Given the description of an element on the screen output the (x, y) to click on. 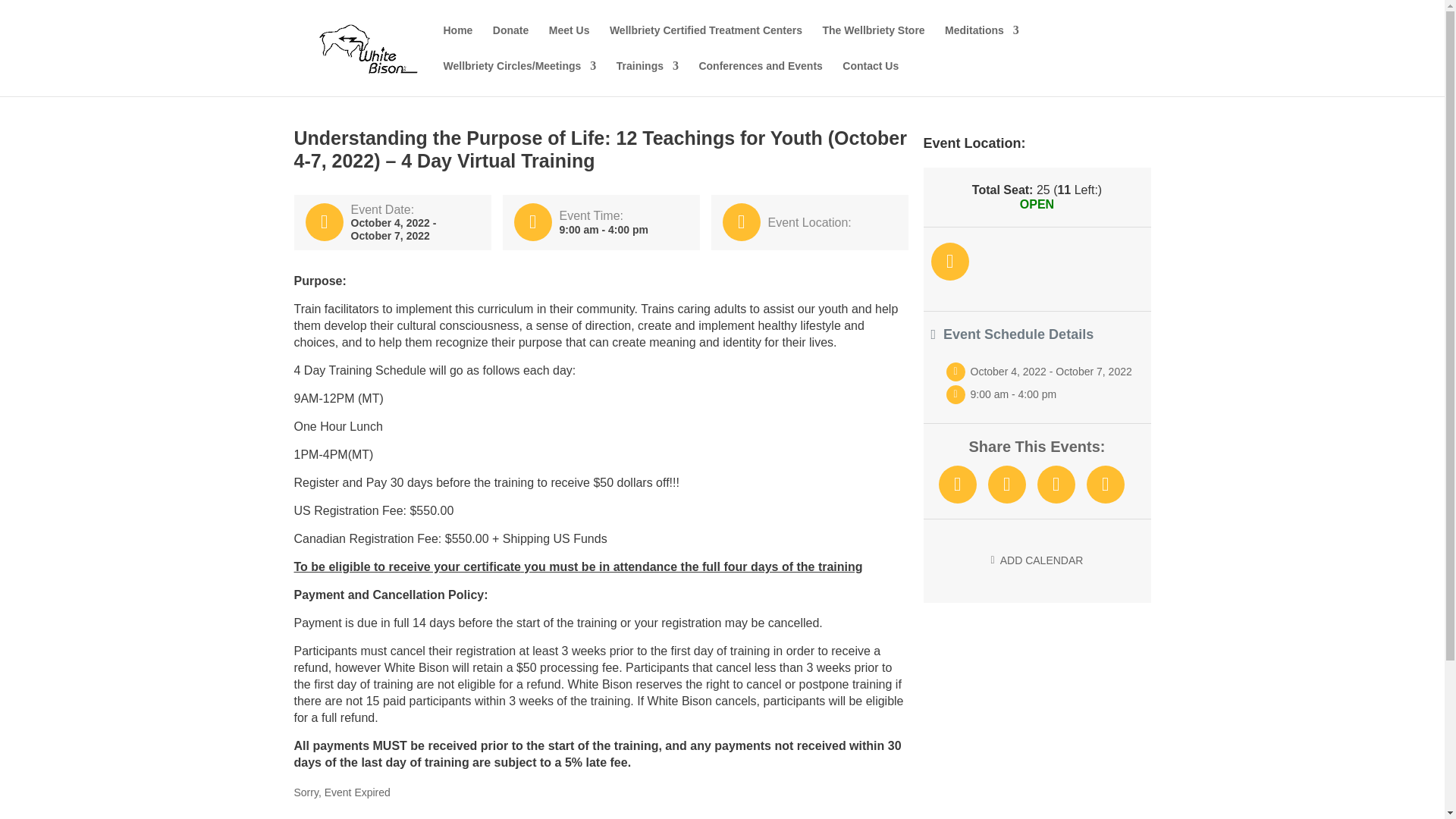
Trainings (646, 78)
Contact Us (870, 78)
Wellbriety Certified Treatment Centers (706, 42)
Conferences and Events (760, 78)
Meditations (981, 42)
Home (456, 42)
Share by Email (1105, 484)
The Wellbriety Store (873, 42)
Meet Us (568, 42)
Donate (510, 42)
